Given the description of an element on the screen output the (x, y) to click on. 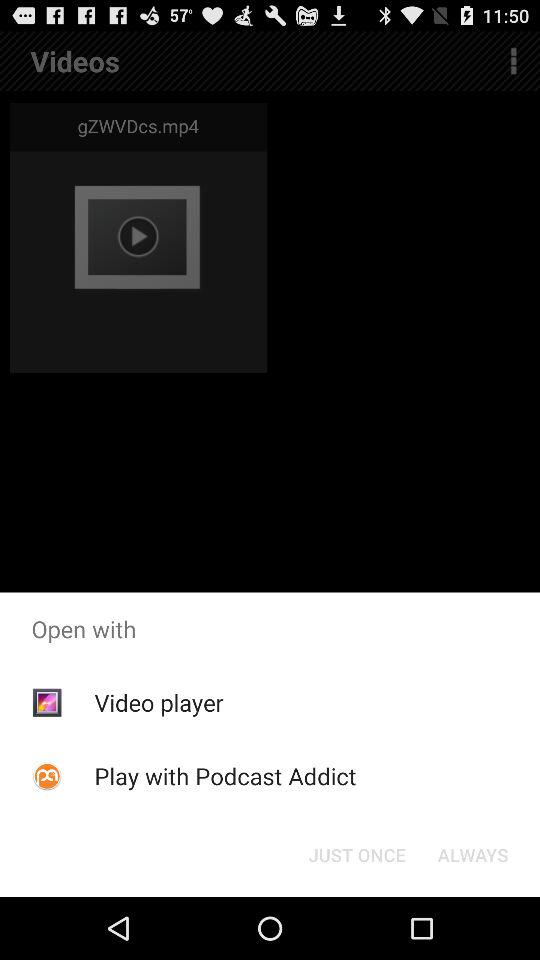
swipe until play with podcast item (225, 775)
